Given the description of an element on the screen output the (x, y) to click on. 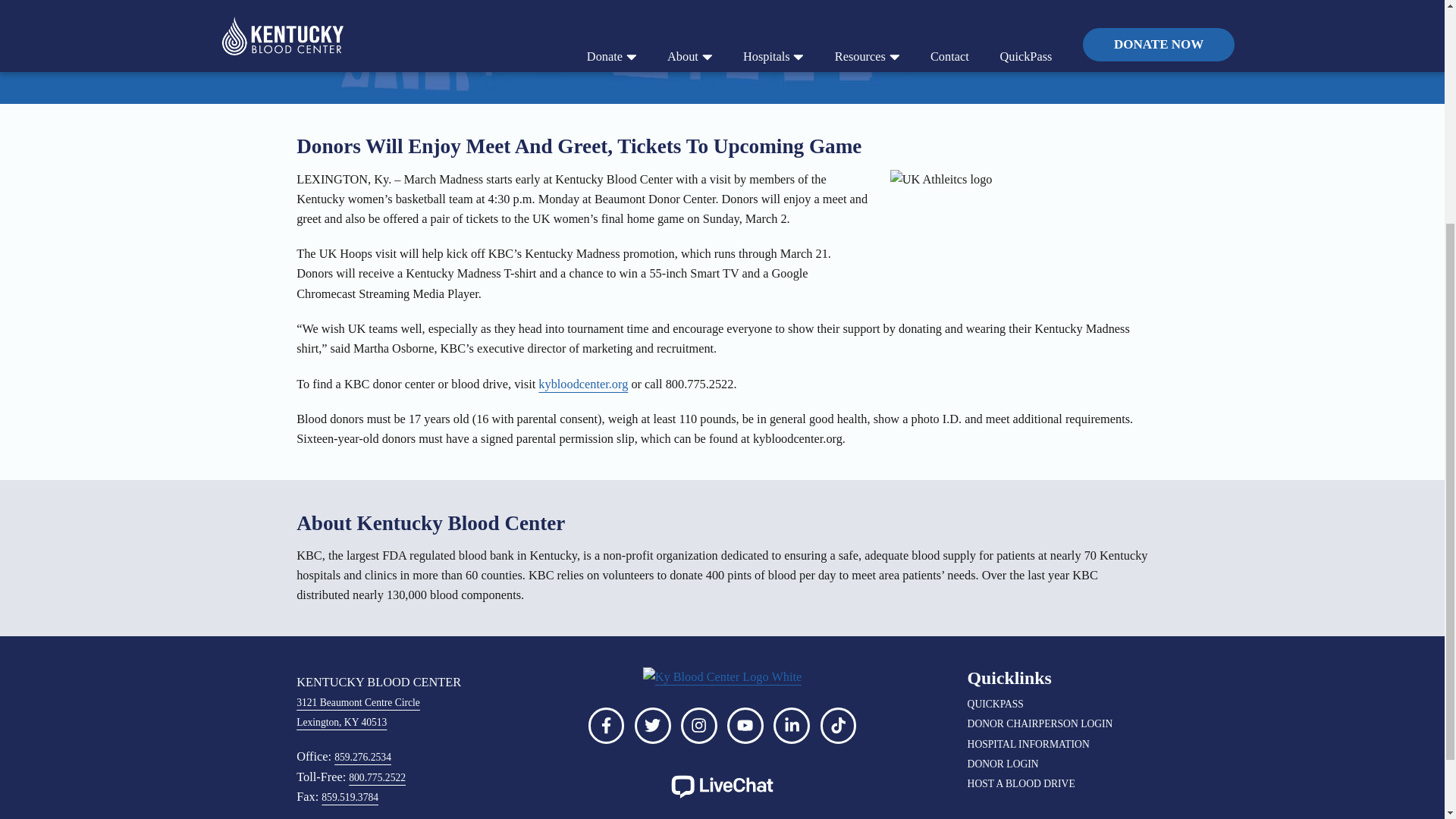
859.276.2534 (362, 756)
kybloodcenter.org (582, 383)
